Given the description of an element on the screen output the (x, y) to click on. 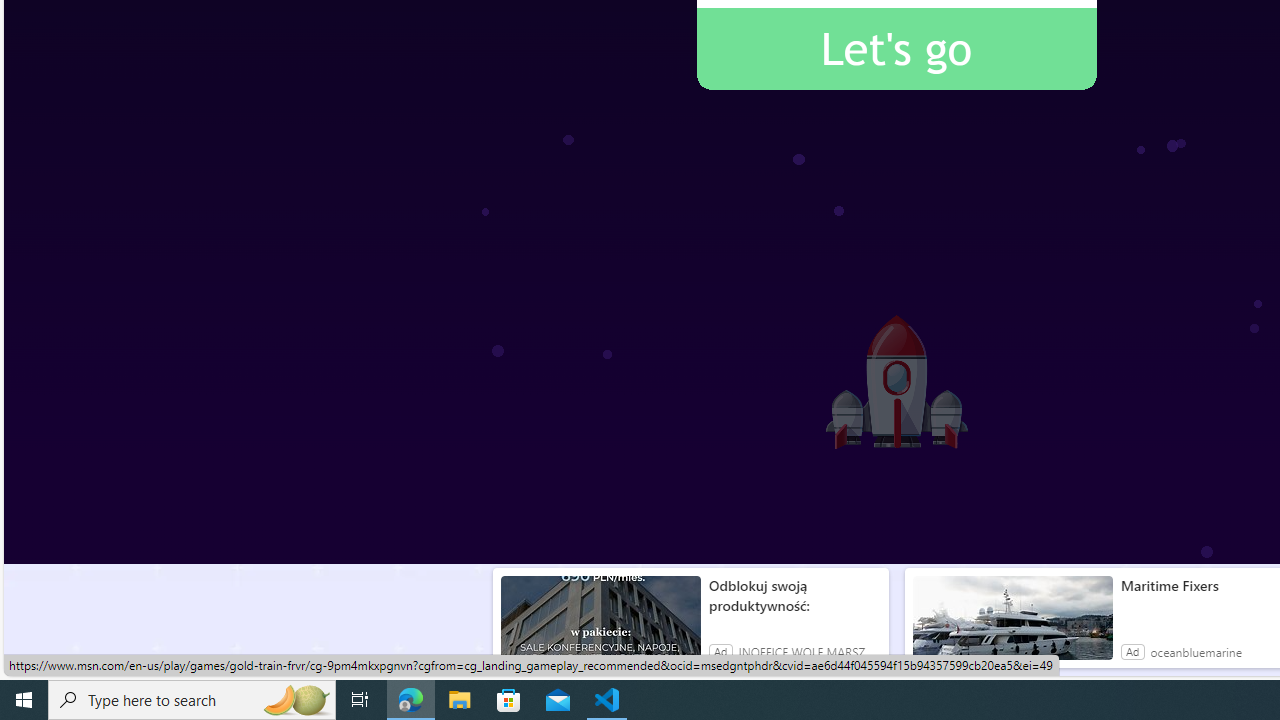
oceanbluemarine (1195, 651)
anim-content (1012, 626)
